Given the description of an element on the screen output the (x, y) to click on. 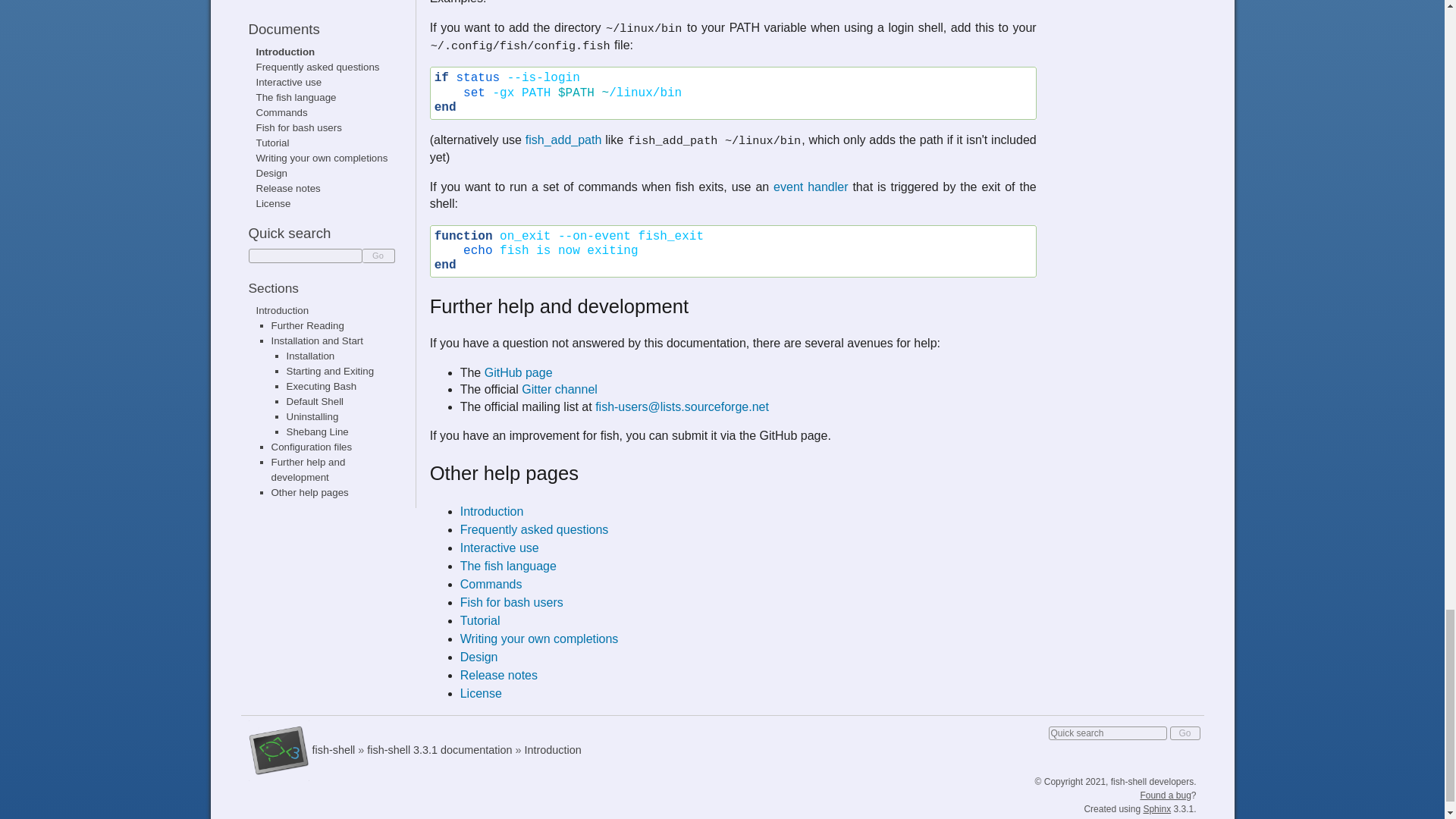
Go (1184, 733)
